Given the description of an element on the screen output the (x, y) to click on. 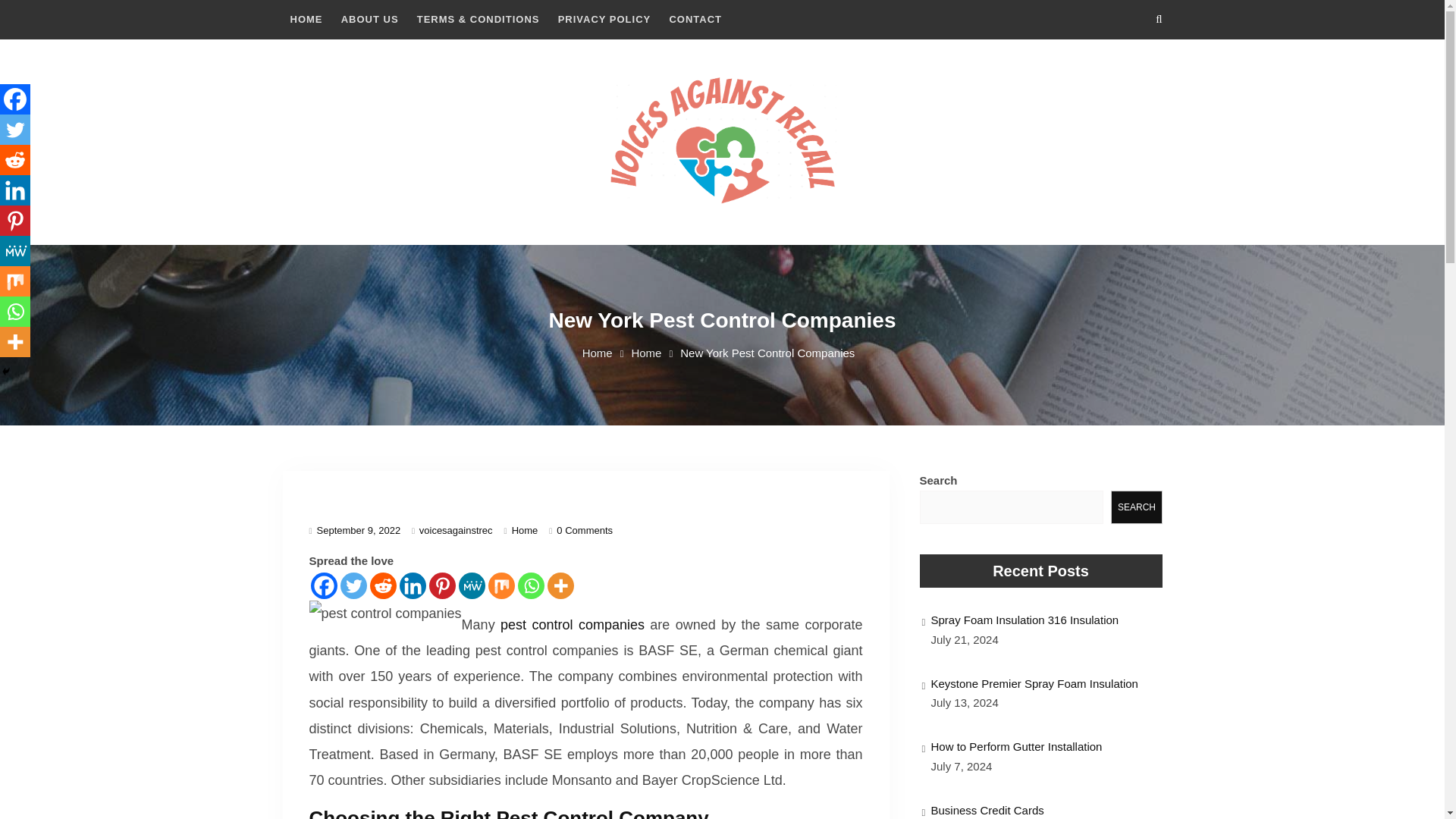
Facebook (324, 585)
PRIVACY POLICY (604, 20)
Linkedin (411, 585)
Pinterest (442, 585)
Reddit (15, 159)
Linkedin (15, 190)
Home (525, 530)
More (560, 585)
Reddit (382, 585)
Mix (501, 585)
